Given the description of an element on the screen output the (x, y) to click on. 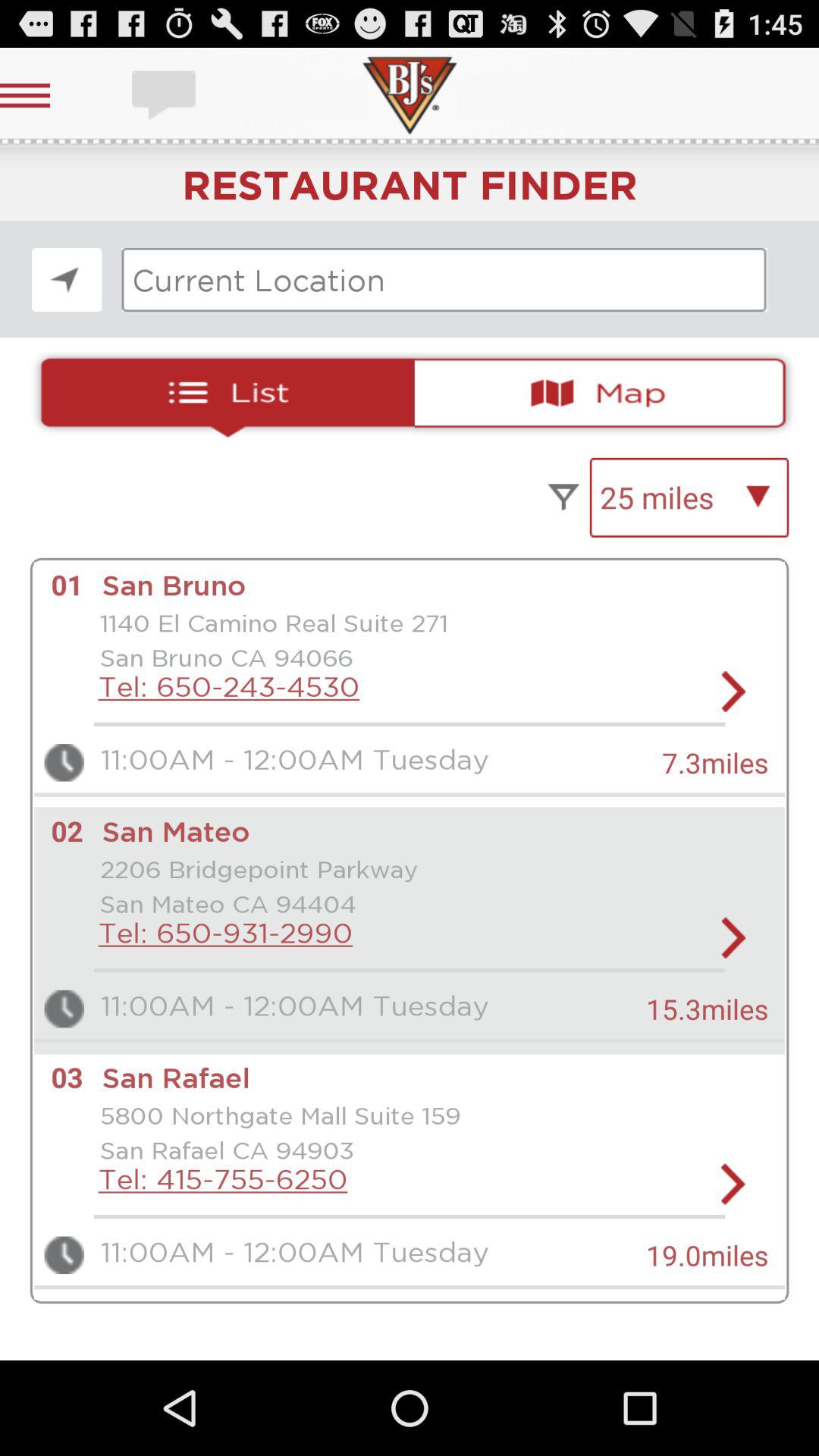
enter current location (444, 279)
